Given the description of an element on the screen output the (x, y) to click on. 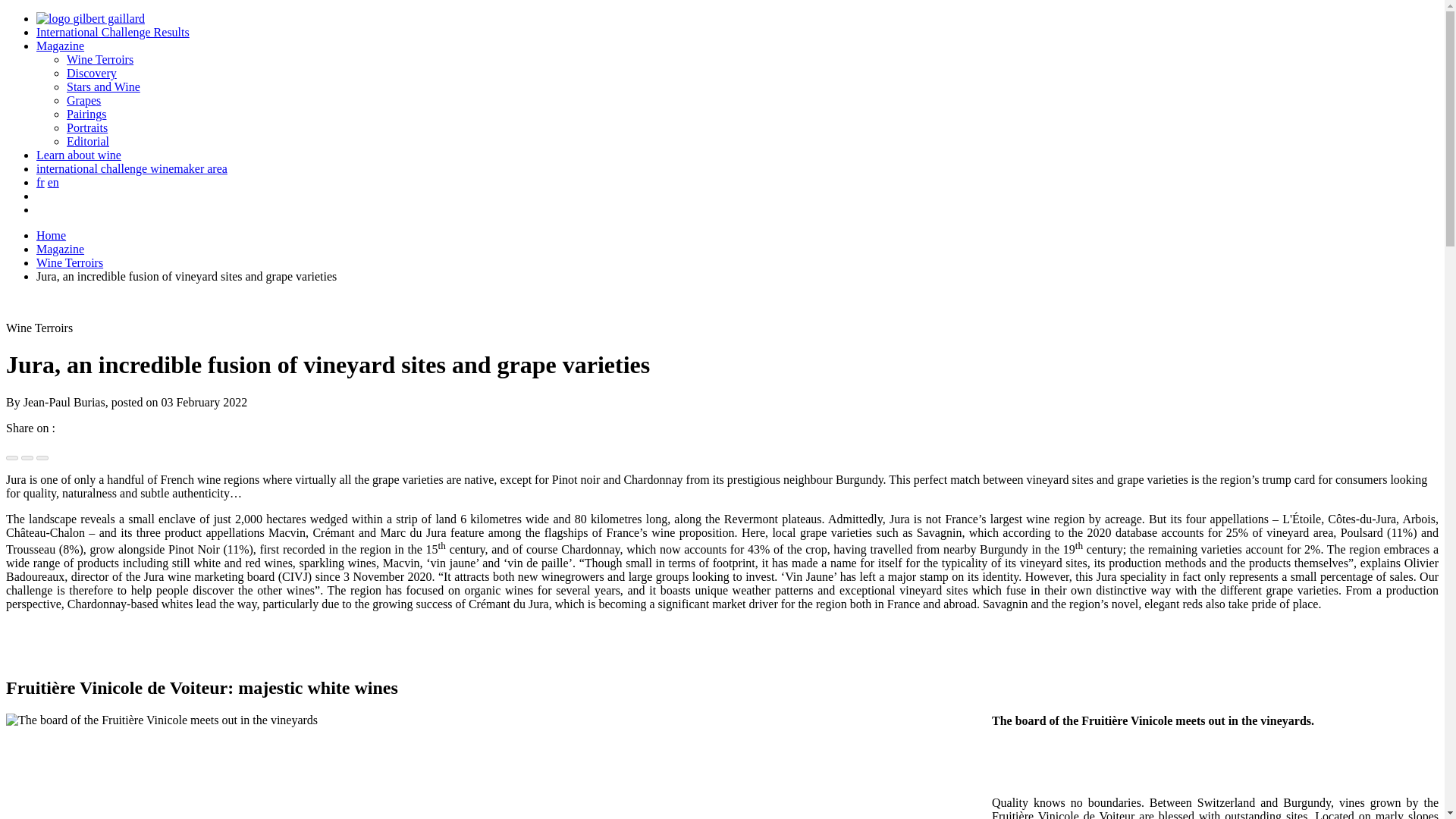
Discovery (91, 72)
Grapes (83, 100)
Pairings (86, 113)
Wine Terroirs (99, 59)
international challenge winemaker area (131, 168)
Learn about wine (78, 154)
International Challenge Results (112, 31)
Magazine (60, 248)
Portraits (86, 127)
Home (50, 235)
